Given the description of an element on the screen output the (x, y) to click on. 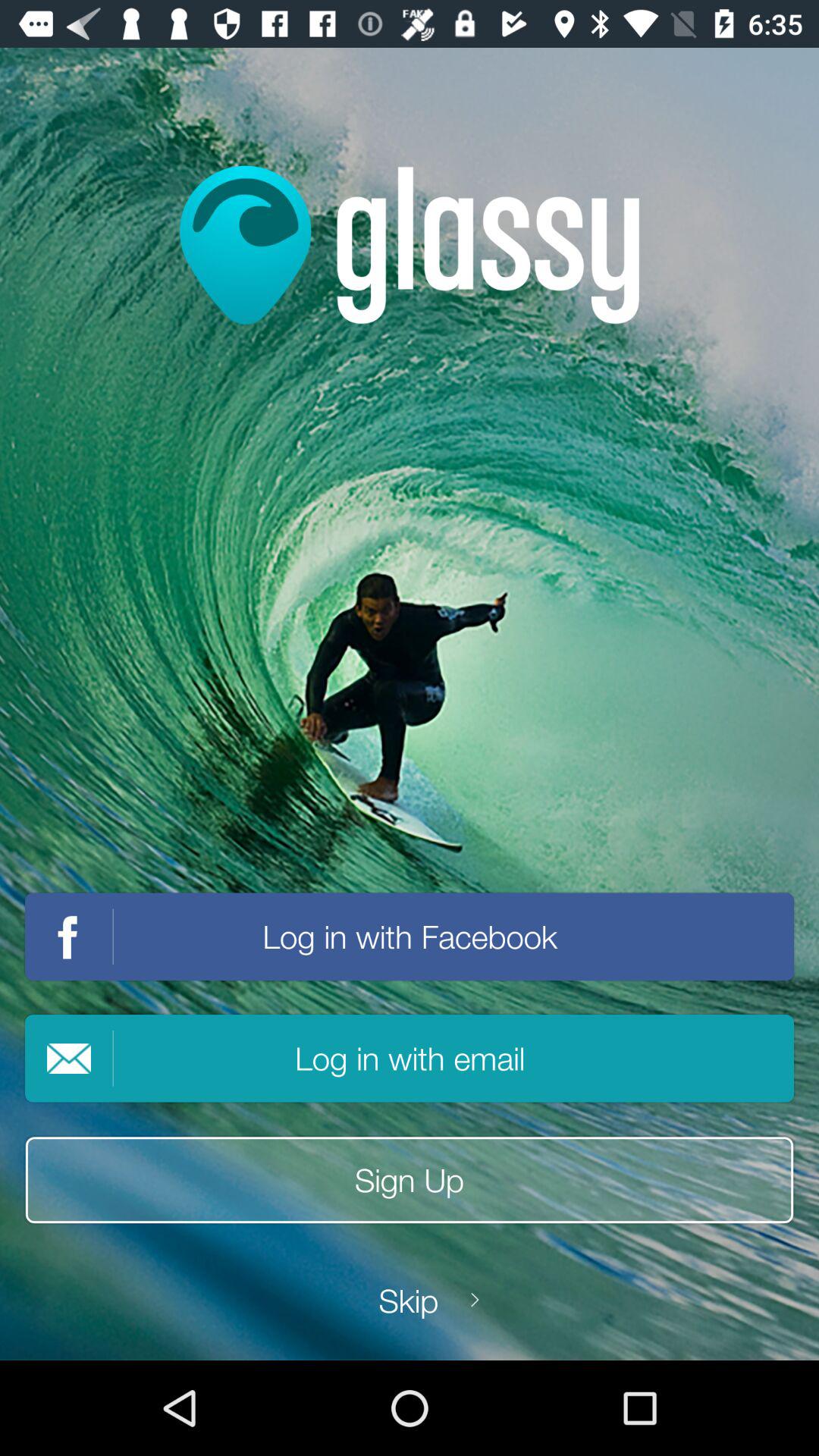
select item above skip item (409, 1179)
